Given the description of an element on the screen output the (x, y) to click on. 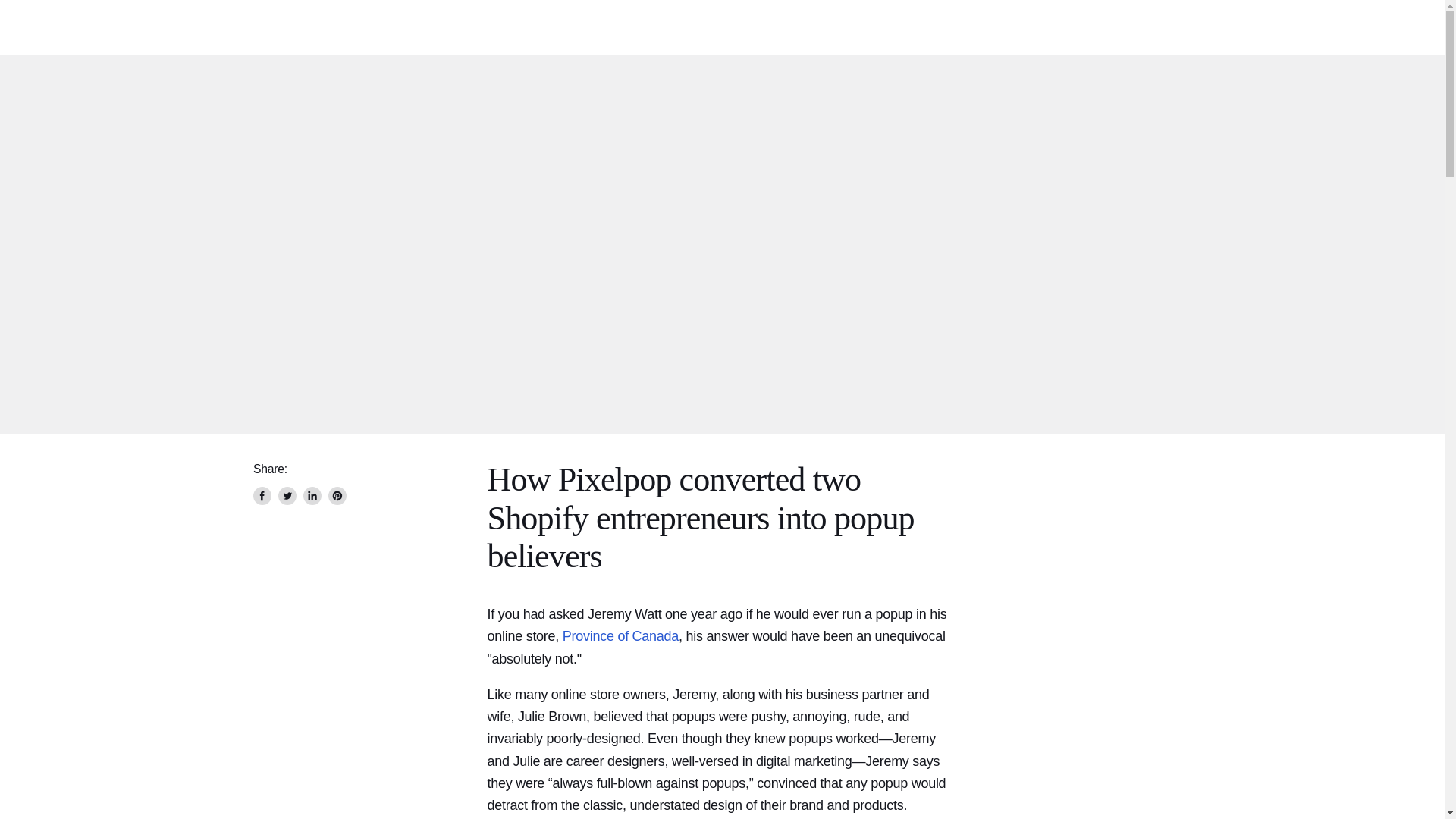
Share on LinkedIn (311, 495)
Province of Canada (618, 635)
Tweet on Twitter (287, 495)
Pin on Pinterest (337, 495)
Share on Facebook (261, 495)
